Given the description of an element on the screen output the (x, y) to click on. 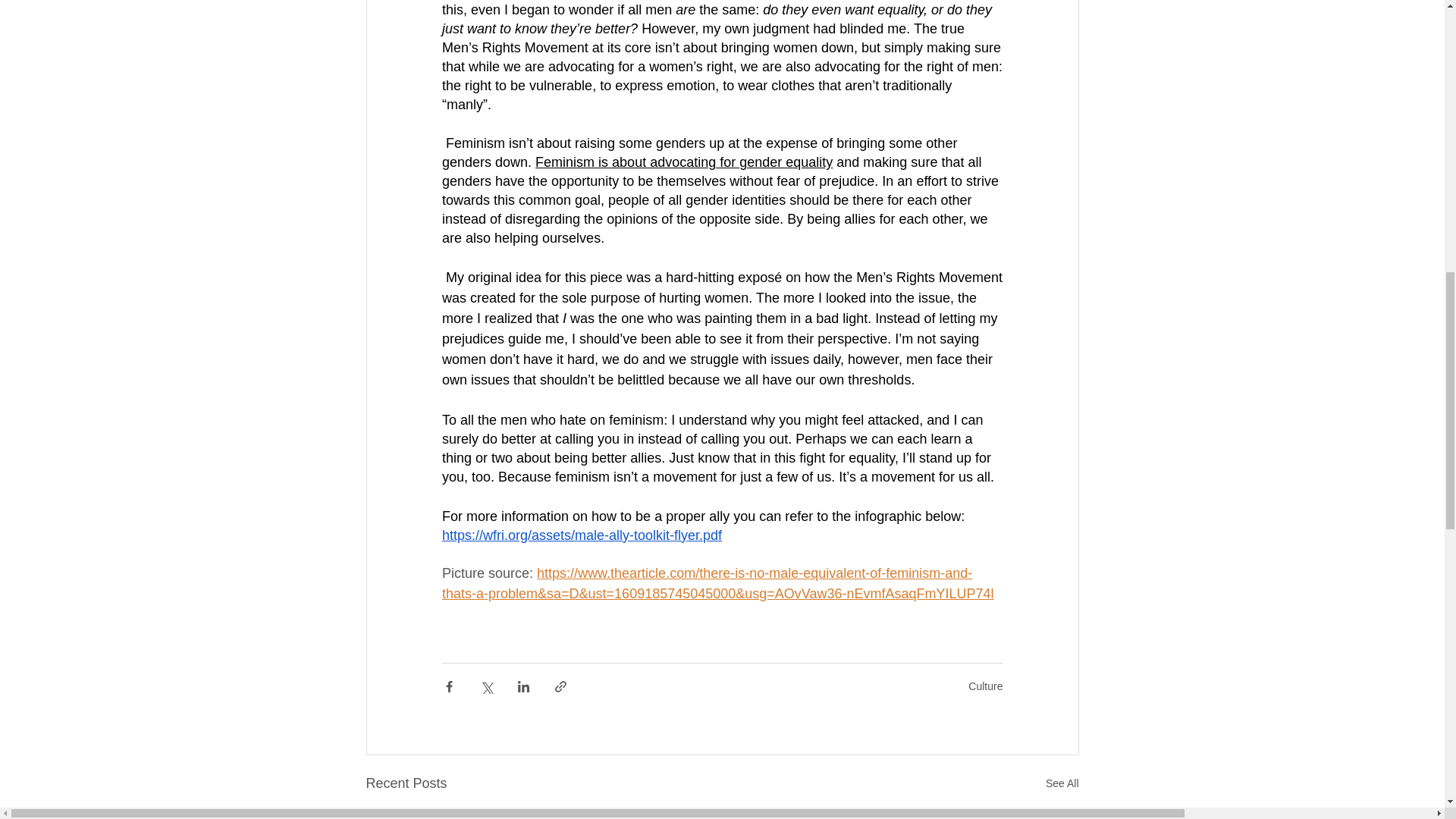
See All (1061, 783)
Culture (985, 686)
Feminism is about advocating for gender equality (683, 161)
